Given the description of an element on the screen output the (x, y) to click on. 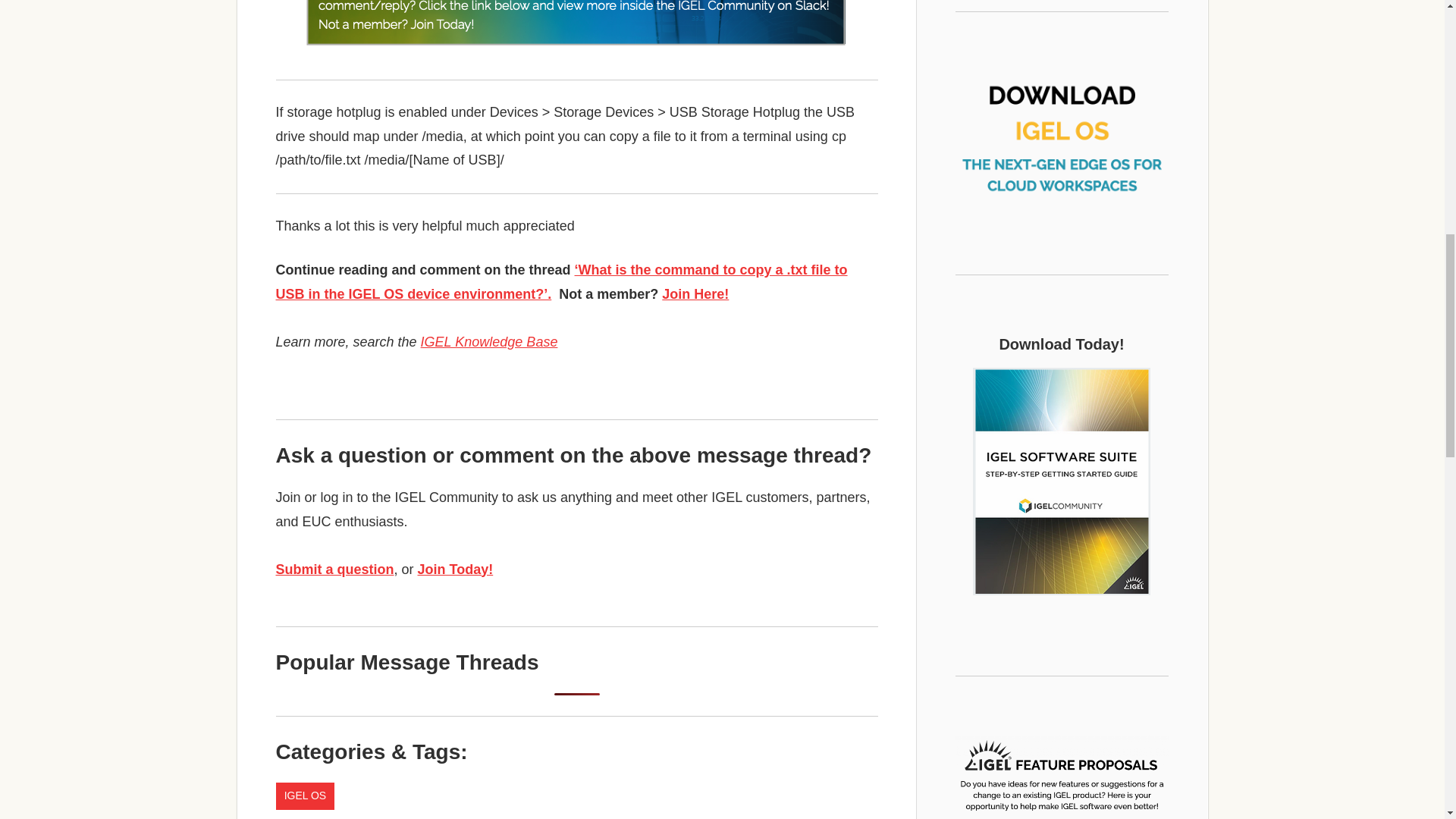
Download IGEL OS (1062, 131)
Download Today! (1062, 481)
